Given the description of an element on the screen output the (x, y) to click on. 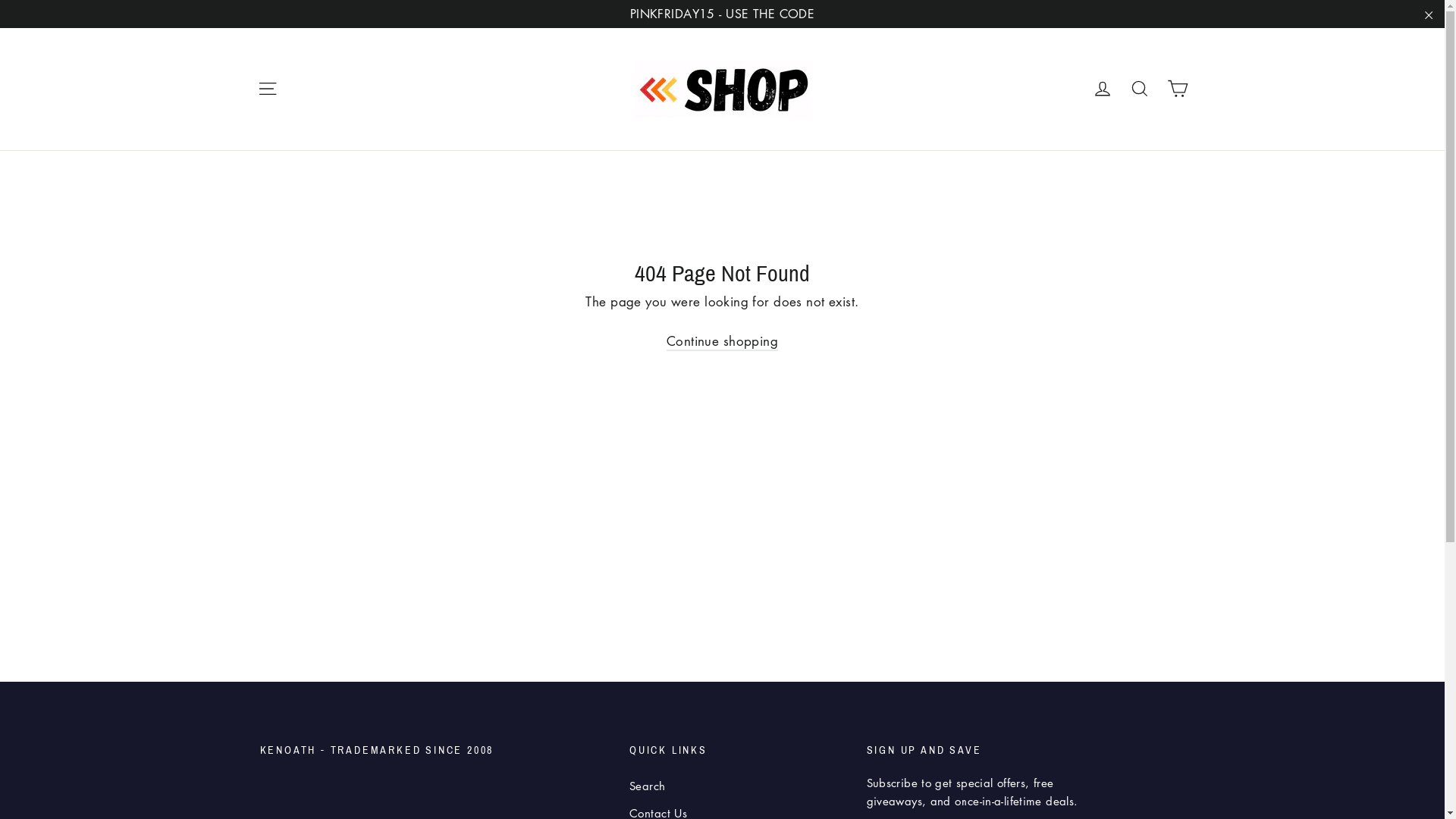
Cart Element type: text (1176, 88)
"Close" Element type: text (1428, 13)
Skip to content Element type: text (0, 0)
Continue shopping Element type: text (722, 341)
Site navigation Element type: text (266, 88)
Log in Element type: text (1102, 88)
Search Element type: text (1139, 88)
Search Element type: text (736, 785)
